Given the description of an element on the screen output the (x, y) to click on. 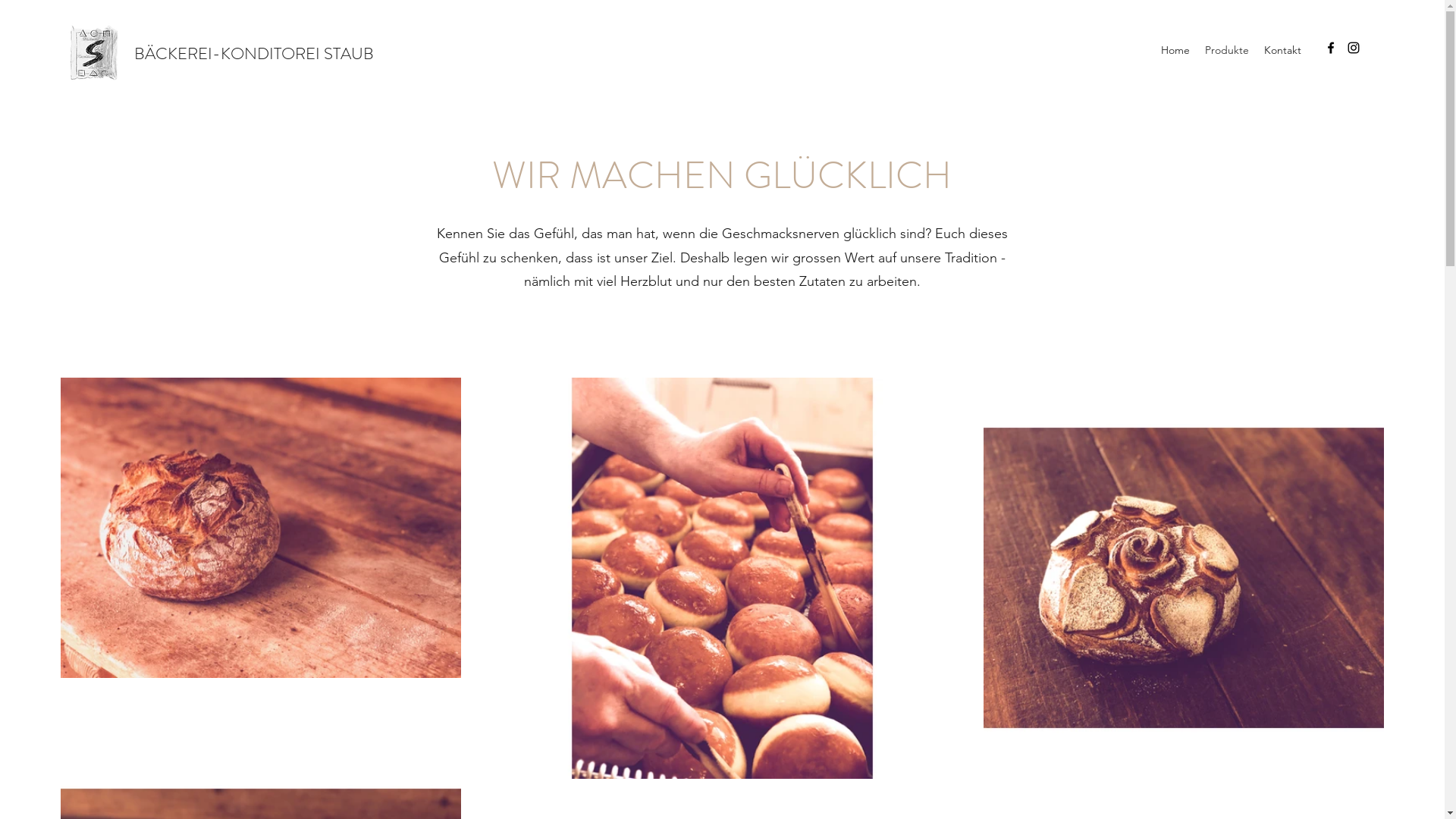
Kontakt Element type: text (1282, 50)
Home Element type: text (1175, 50)
Produkte Element type: text (1226, 50)
